Given the description of an element on the screen output the (x, y) to click on. 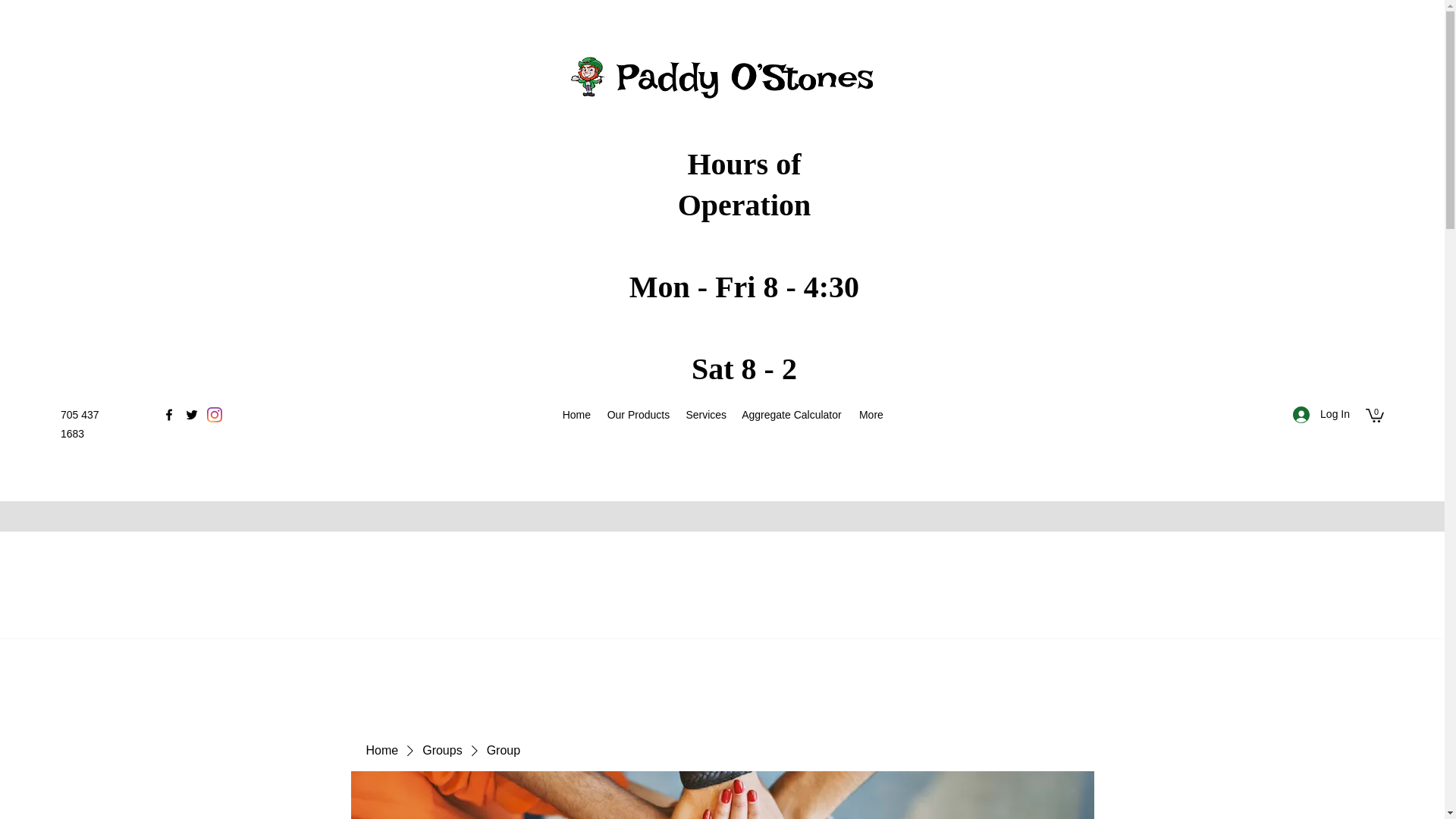
Log In (1320, 414)
Groups (441, 750)
Our Products (638, 414)
0 (1374, 414)
Aggregate Calculator (791, 414)
Services (705, 414)
0 (1374, 414)
Home (381, 750)
Home (576, 414)
